Given the description of an element on the screen output the (x, y) to click on. 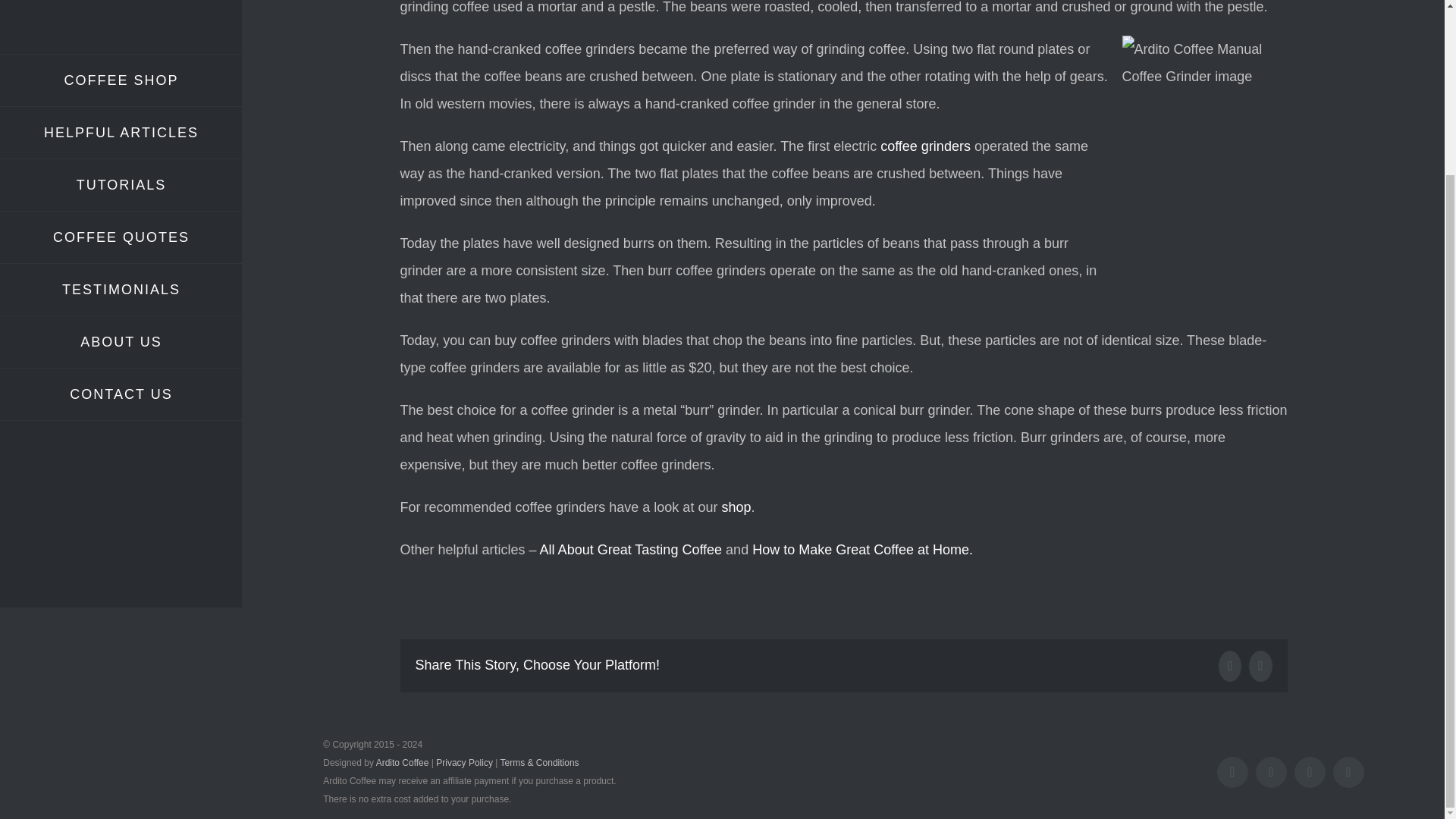
How to Make Great Coffee at Home. (862, 549)
Pinterest (1309, 771)
CONTACT US (121, 394)
HELPFUL ARTICLES (121, 132)
coffee grinders (925, 145)
COFFEE SHOP (121, 80)
Instagram (1271, 771)
Facebook (1229, 665)
Ardito Coffee (402, 762)
Facebook (1232, 771)
ABOUT US (121, 342)
All About Great Tasting Coffee (631, 549)
Privacy Policy (464, 762)
Pinterest (1260, 665)
shop (735, 507)
